Given the description of an element on the screen output the (x, y) to click on. 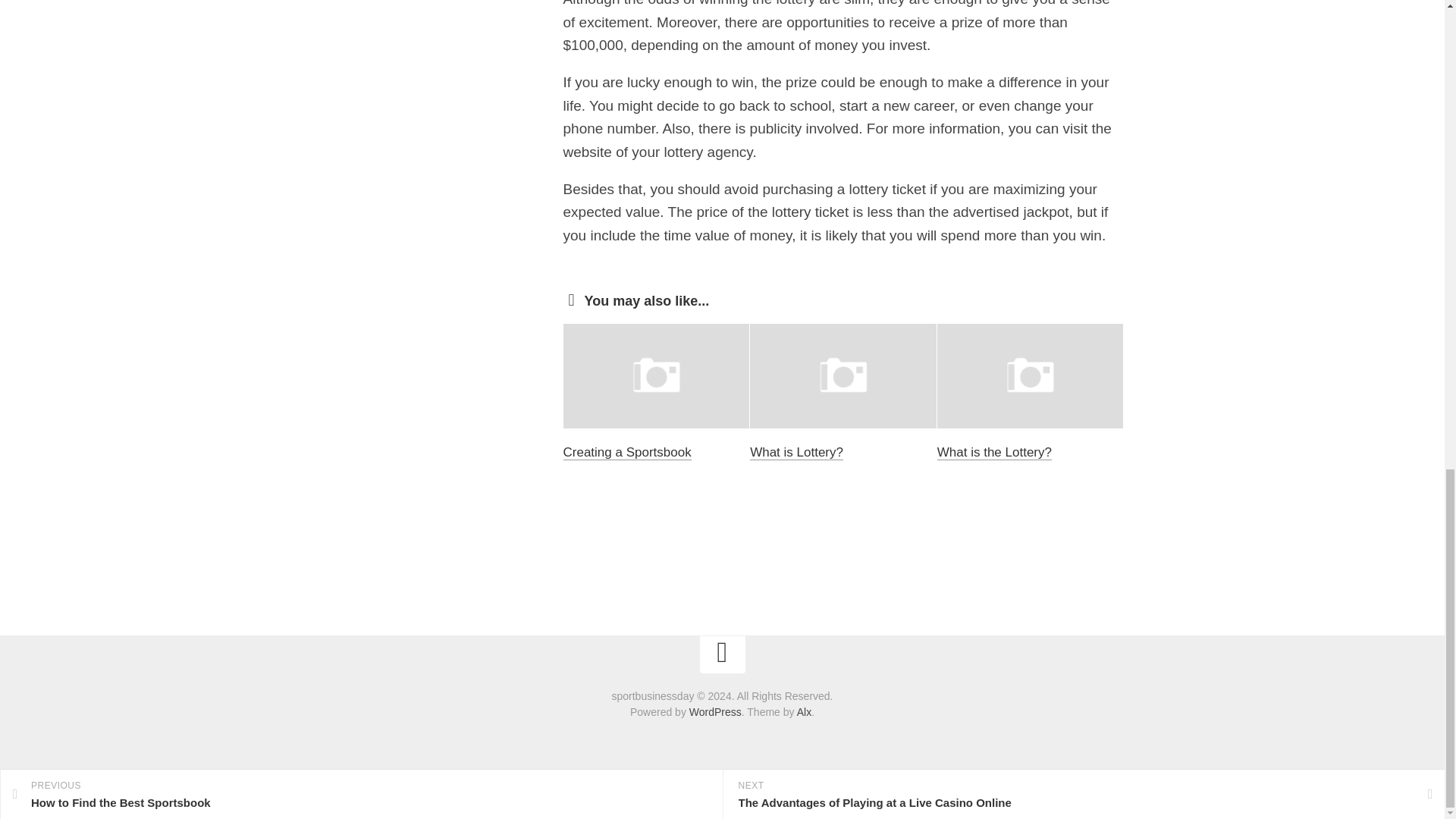
What is Lottery? (796, 452)
What is the Lottery? (994, 452)
Alx (803, 711)
WordPress (714, 711)
Creating a Sportsbook (626, 452)
